Given the description of an element on the screen output the (x, y) to click on. 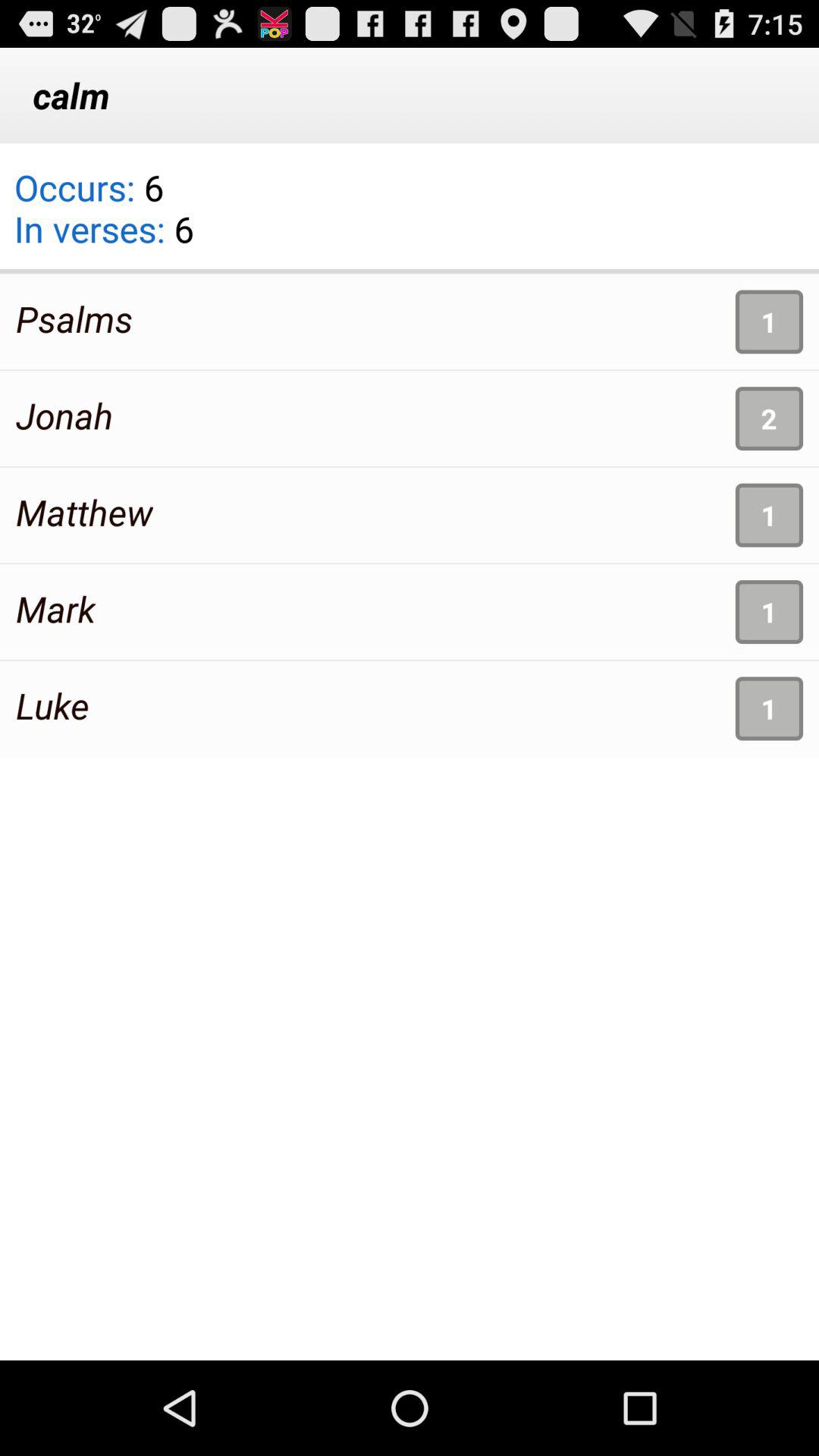
select the icon next to 2 item (64, 415)
